Given the description of an element on the screen output the (x, y) to click on. 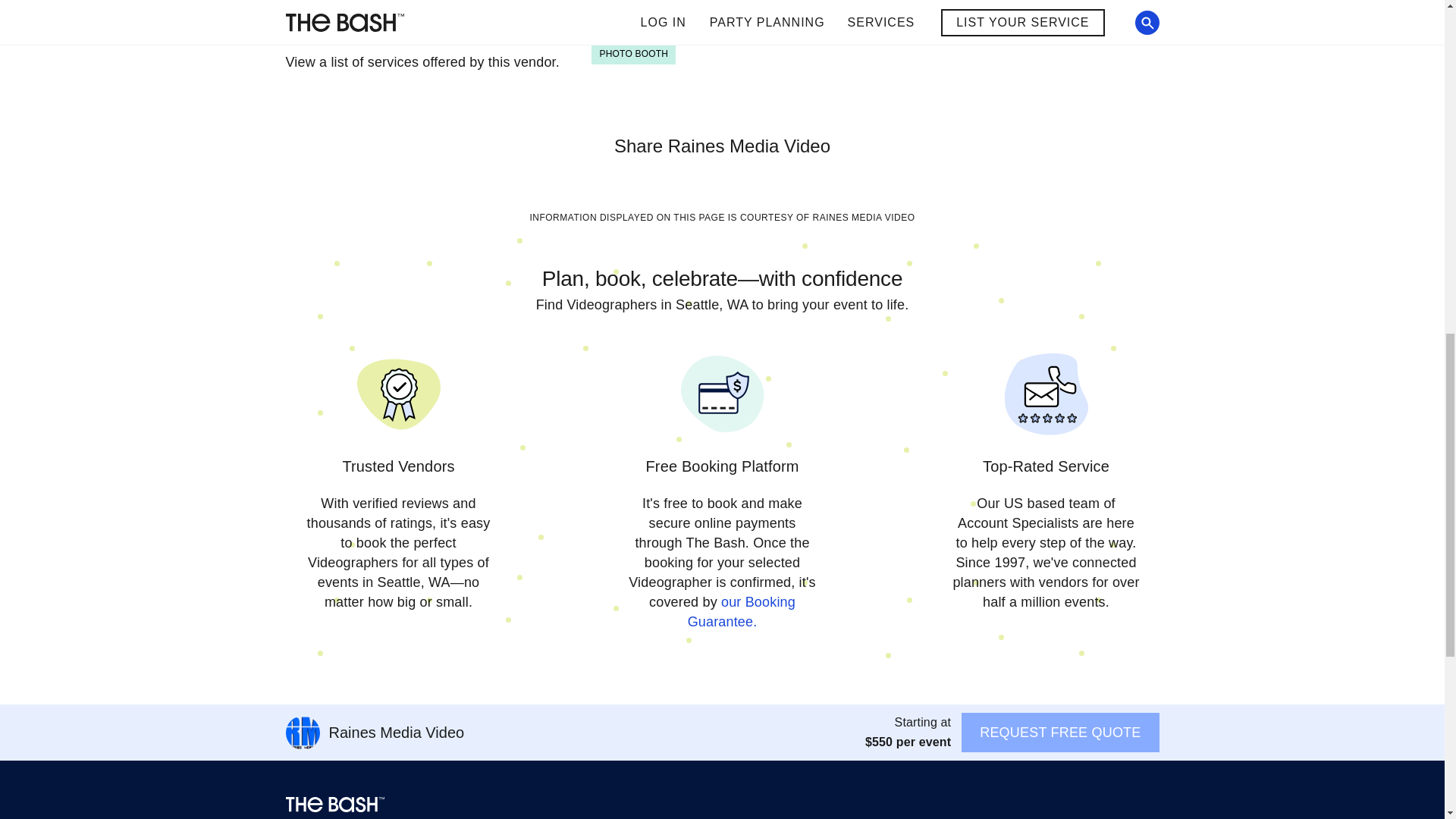
The Bash Logo (334, 804)
